Given the description of an element on the screen output the (x, y) to click on. 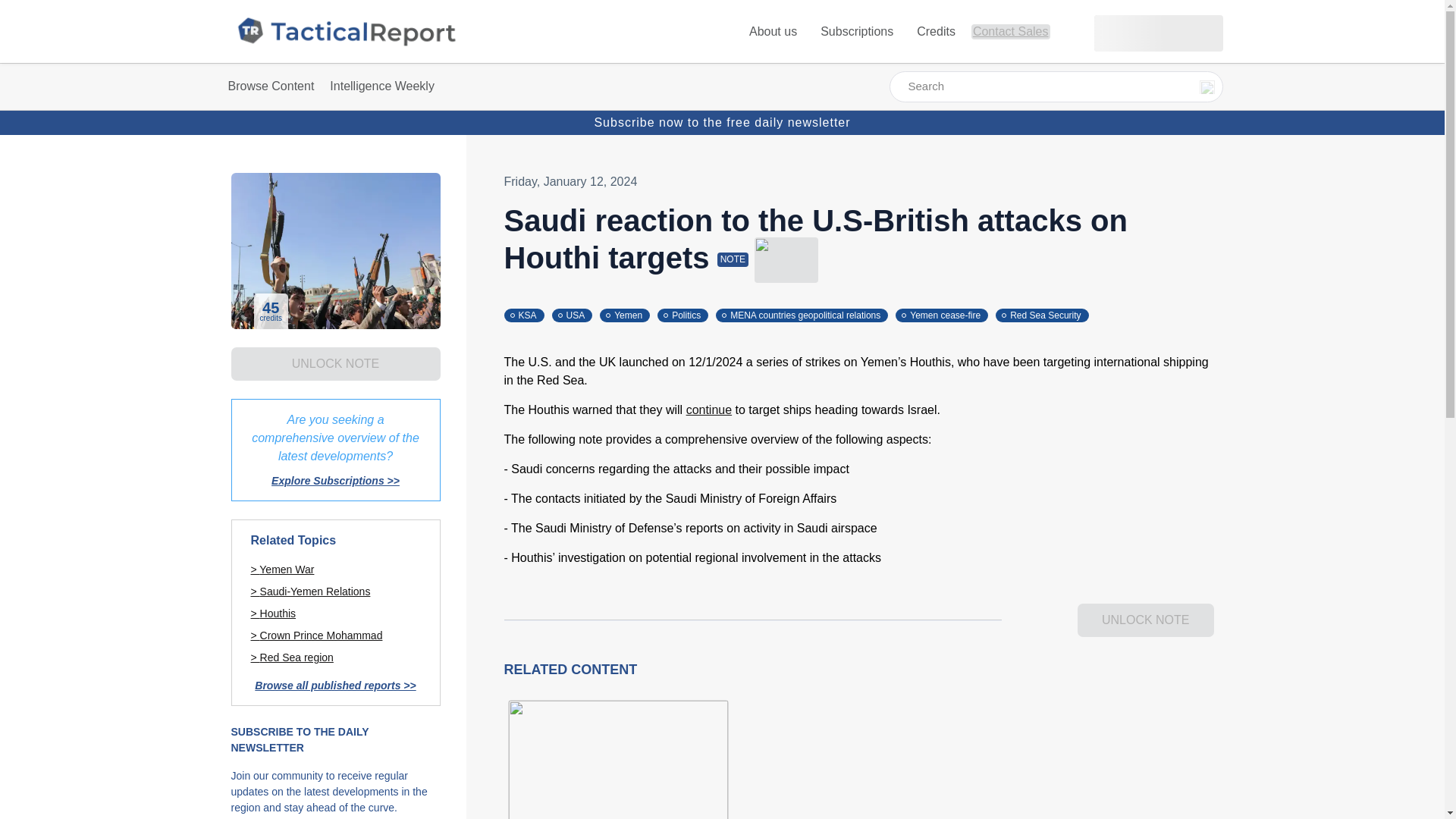
MENA countries geopolitical relations (805, 314)
Yemen cease-fire (945, 314)
Credits (938, 31)
Intelligence Weekly (383, 86)
Subscriptions (857, 31)
Red Sea Security (1045, 314)
Yemen (628, 314)
Politics (687, 314)
Browse Content (272, 86)
About us (774, 31)
